Given the description of an element on the screen output the (x, y) to click on. 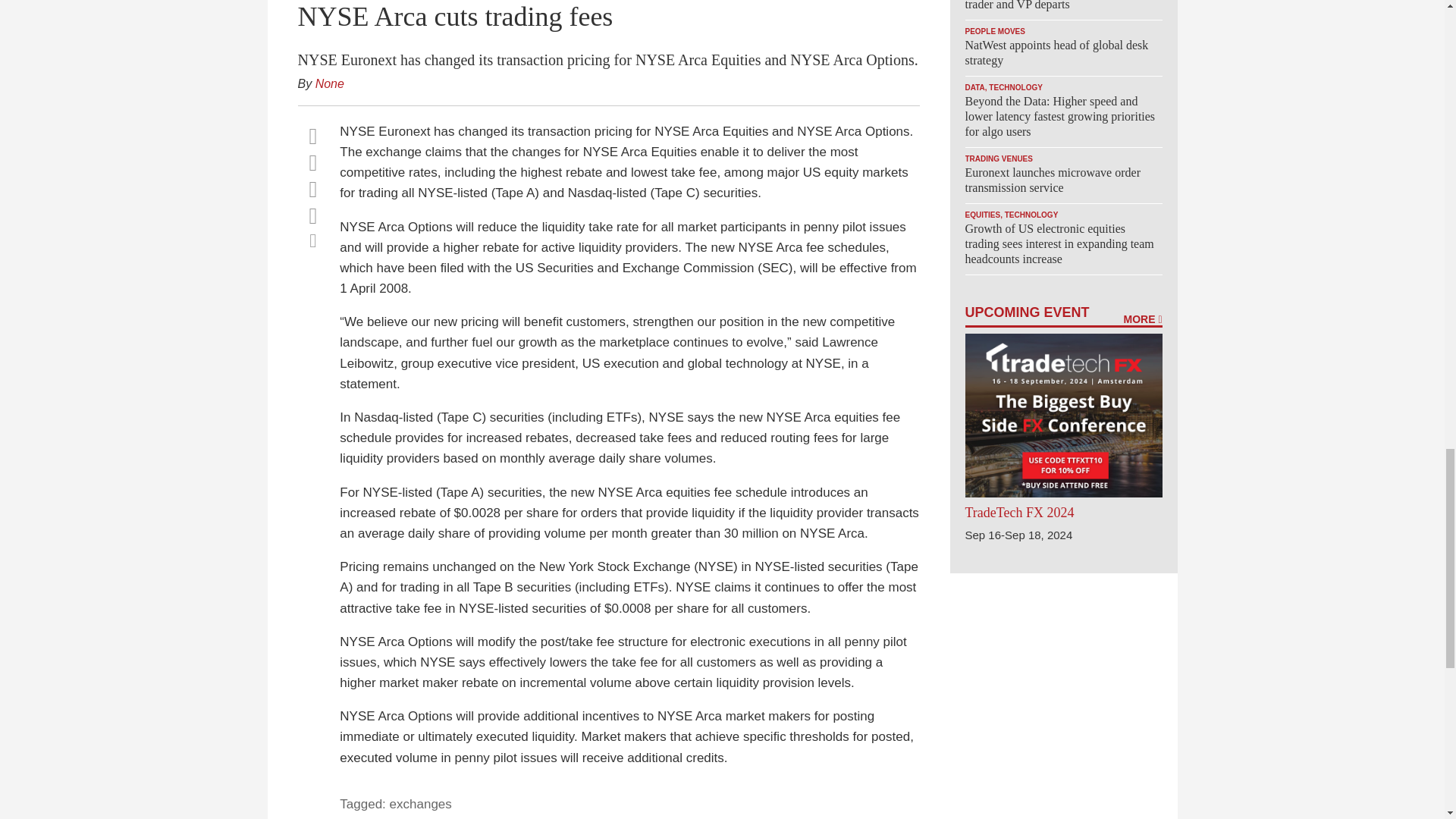
Email this article (312, 215)
Print this article (311, 240)
